Given the description of an element on the screen output the (x, y) to click on. 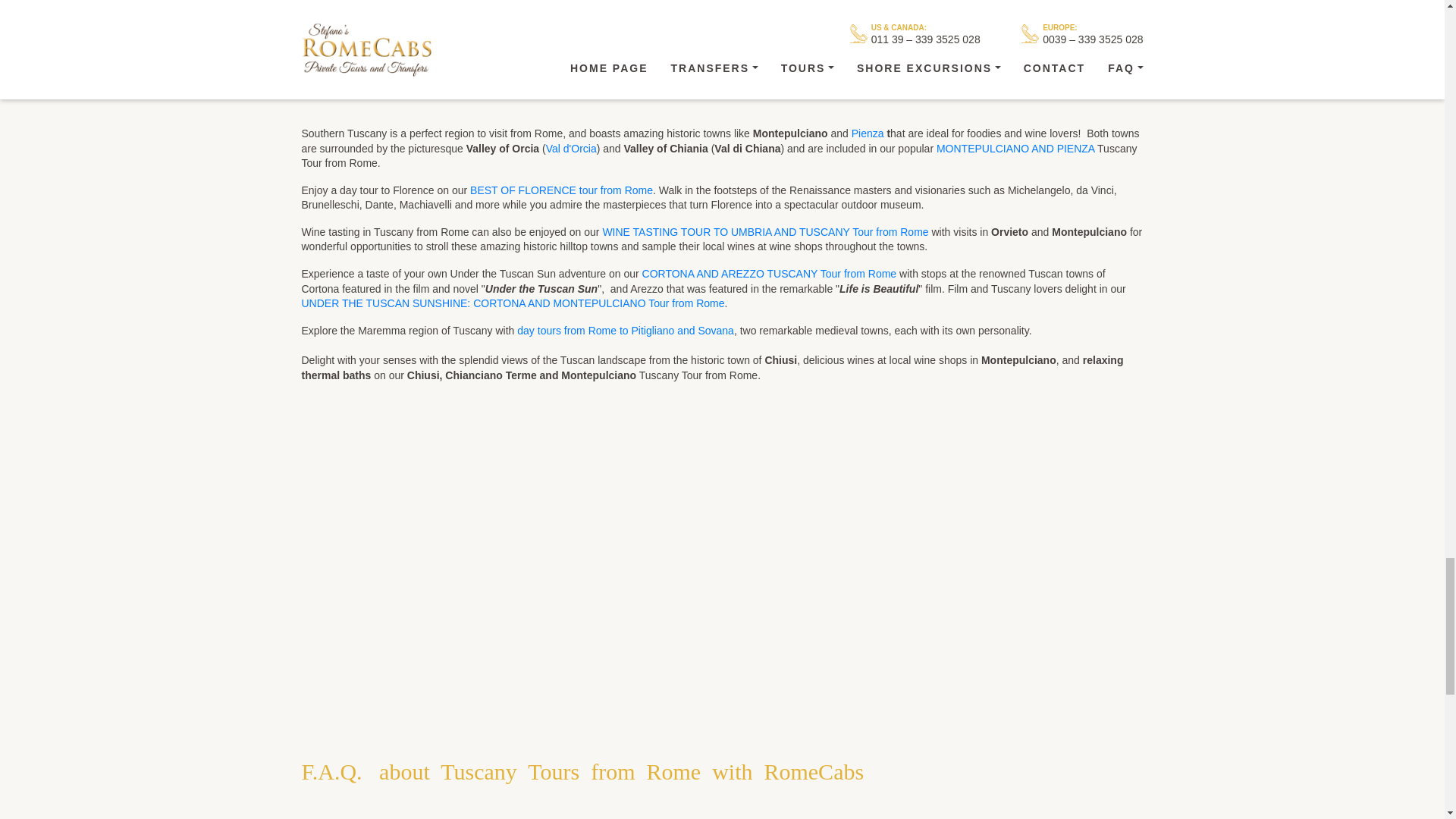
Val d'Orcia UNESCO (571, 148)
Historic Centre of the City of Pienza UNESCO (867, 133)
Pitigliano and Sovana Tour from Rome  (624, 330)
YouTube video player (720, 541)
YouTube video player (721, 18)
